Given the description of an element on the screen output the (x, y) to click on. 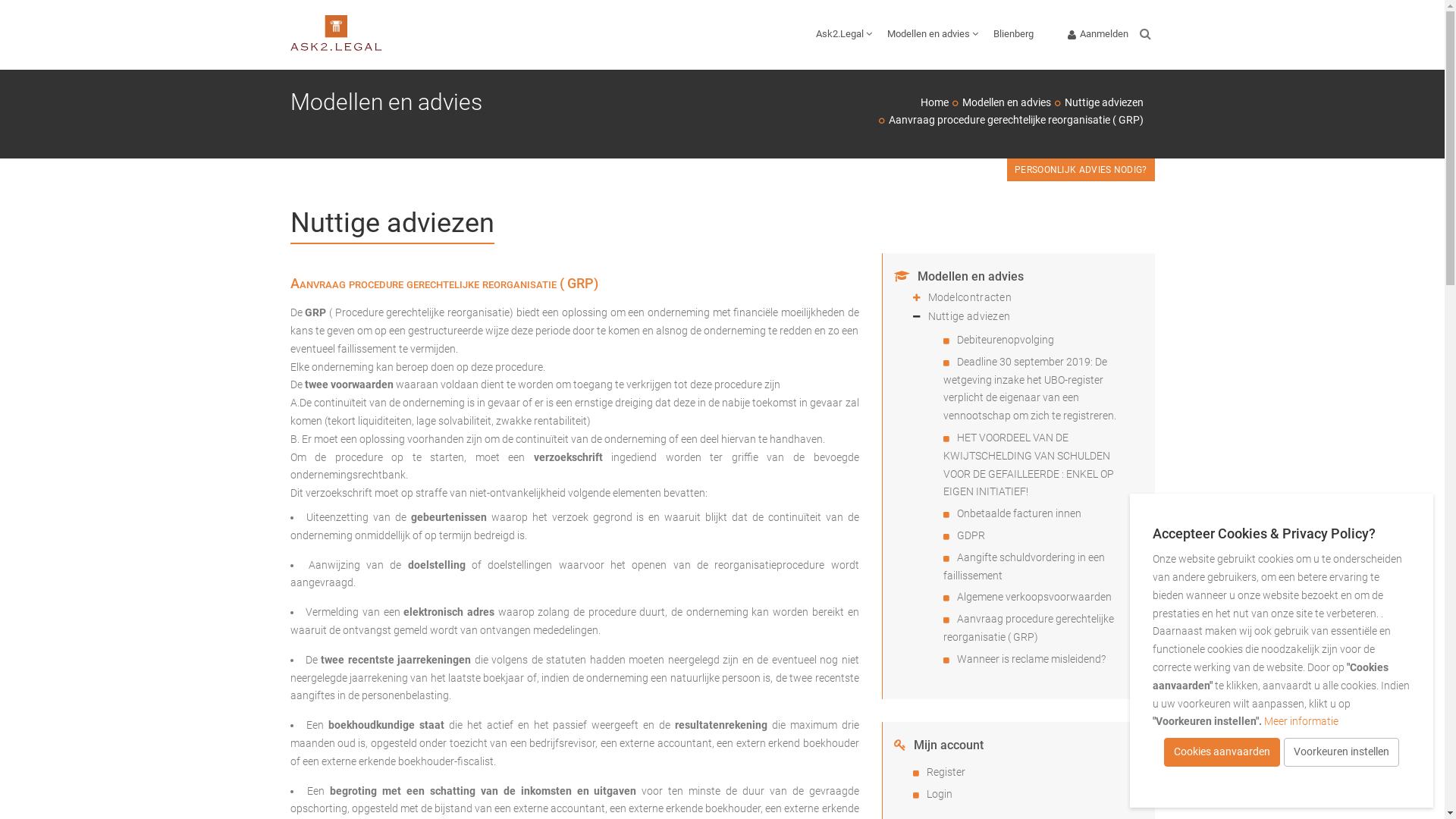
Meer informatie Element type: text (1301, 721)
GDPR Element type: text (971, 535)
Voorkeuren instellen Element type: text (1341, 751)
Register Element type: text (945, 771)
Aangifte schuldvordering in een faillissement Element type: text (1023, 566)
Modellen en advies Element type: text (932, 34)
PERSOONLIJK ADVIES NODIG? Element type: text (1080, 169)
Aanmelden Element type: text (1097, 34)
Onbetaalde facturen innen Element type: text (1019, 513)
Blienberg Element type: text (1013, 34)
Algemene verkoopsvoorwaarden Element type: text (1034, 596)
Nuttige adviezen Element type: text (1035, 315)
Debiteurenopvolging Element type: text (1005, 339)
Modellen en advies Element type: text (1005, 102)
Home Element type: text (934, 102)
Cookies aanvaarden Element type: text (1222, 751)
Ask2.Legal Element type: text (843, 34)
Nuttige adviezen Element type: text (1103, 102)
Wanneer is reclame misleidend? Element type: text (1031, 658)
Login Element type: text (939, 793)
Aanvraag procedure gerechtelijke reorganisatie ( GRP) Element type: text (1028, 627)
Modelcontracten Element type: text (1035, 296)
